Given the description of an element on the screen output the (x, y) to click on. 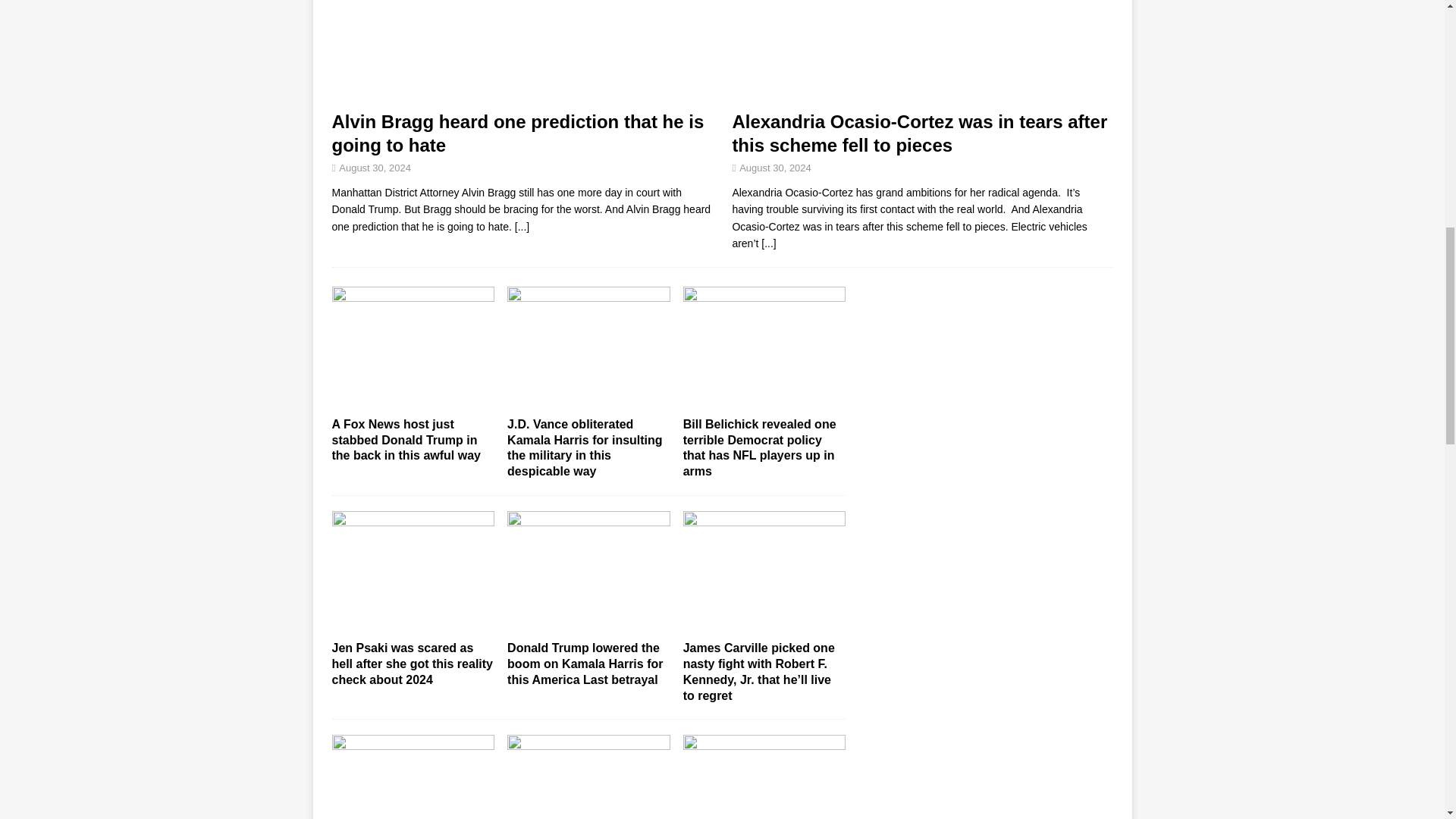
Alvin Bragg heard one prediction that he is going to hate (517, 133)
August 30, 2024 (774, 167)
